Given the description of an element on the screen output the (x, y) to click on. 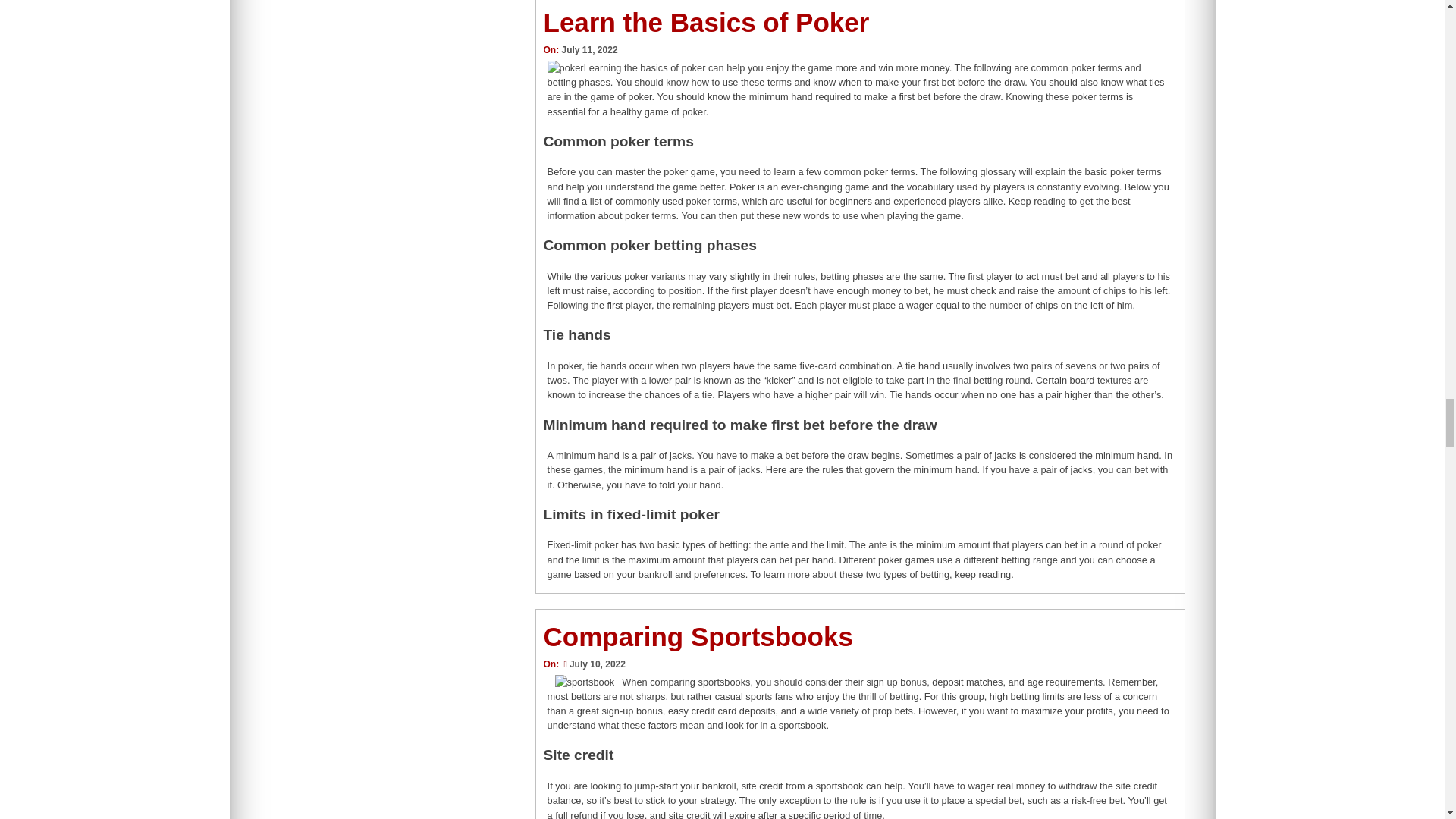
July 11, 2022 (588, 50)
Learn the Basics of Poker (706, 21)
July 10, 2022 (592, 664)
Comparing Sportsbooks (697, 636)
